Given the description of an element on the screen output the (x, y) to click on. 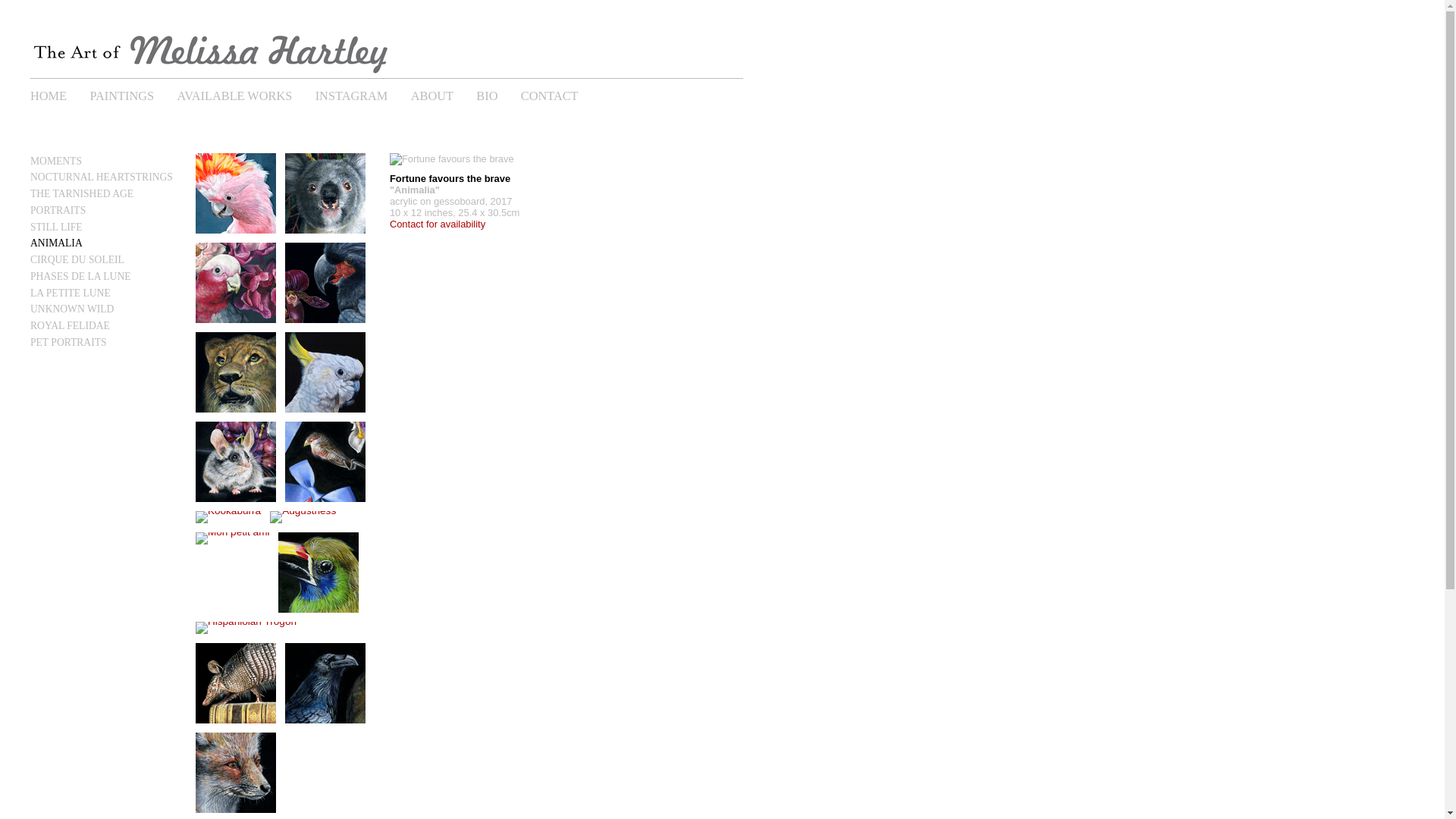
LA PETITE LUNE Element type: text (70, 292)
INSTAGRAM Element type: text (361, 92)
Contact for availability Element type: text (437, 223)
NOCTURNAL HEARTSTRINGS Element type: text (101, 176)
PAINTINGS Element type: text (131, 92)
AVAILABLE WORKS Element type: text (244, 92)
CONTACT Element type: text (559, 92)
ABOUT Element type: text (442, 92)
STILL LIFE Element type: text (56, 226)
HOME Element type: text (58, 92)
BIO Element type: text (496, 92)
MOMENTS Element type: text (55, 160)
THE TARNISHED AGE Element type: text (81, 193)
PORTRAITS Element type: text (57, 210)
PET PORTRAITS Element type: text (68, 342)
PHASES DE LA LUNE Element type: text (80, 276)
CIRQUE DU SOLEIL Element type: text (77, 259)
UNKNOWN WILD Element type: text (71, 308)
ROYAL FELIDAE Element type: text (69, 325)
ANIMALIA Element type: text (56, 242)
